Given the description of an element on the screen output the (x, y) to click on. 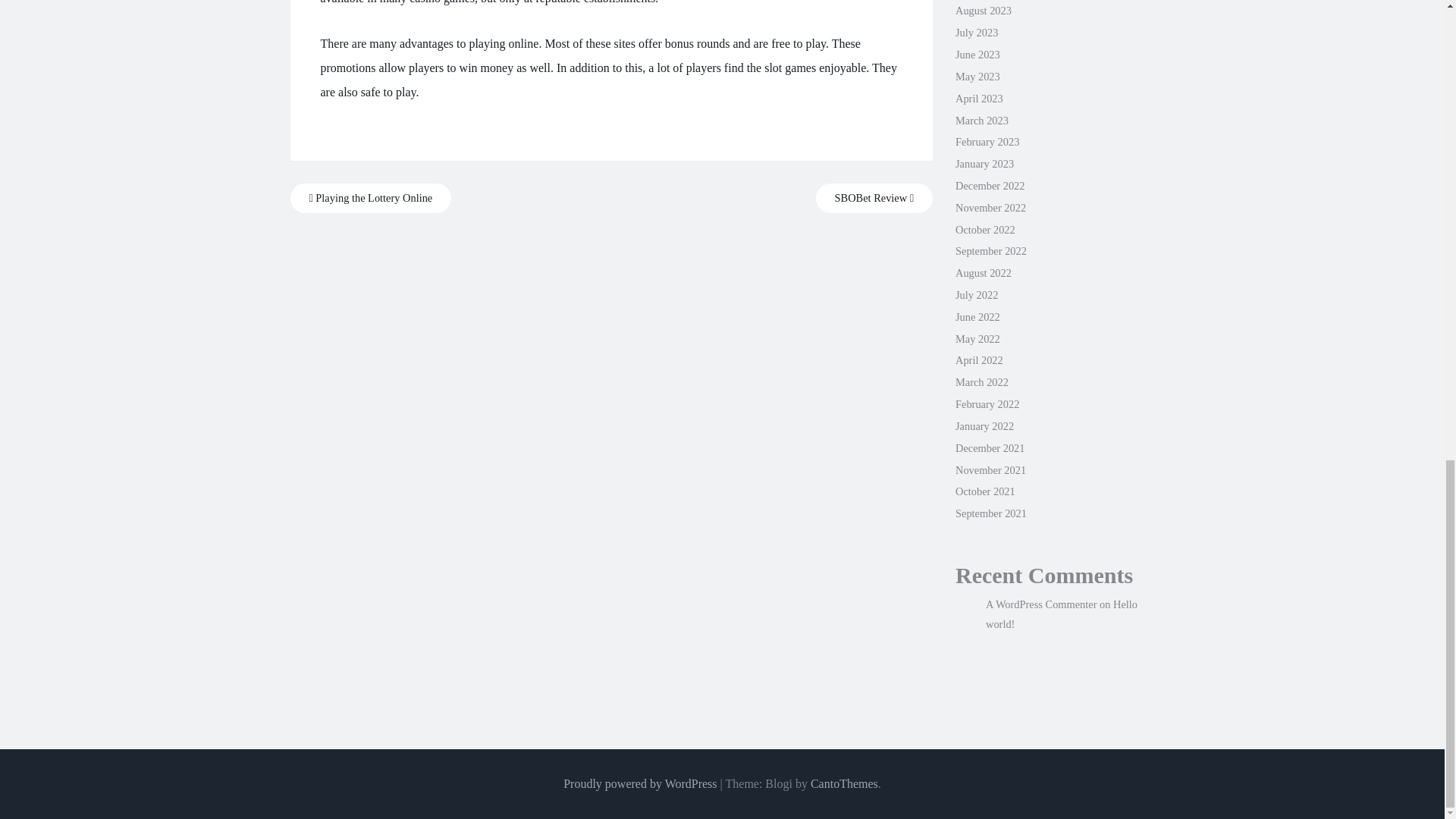
July 2023 (976, 32)
December 2022 (990, 185)
March 2023 (982, 120)
February 2023 (987, 141)
Playing the Lottery Online (370, 197)
SBOBet Review (874, 197)
January 2023 (984, 163)
November 2022 (990, 207)
May 2023 (977, 76)
April 2023 (979, 98)
